Given the description of an element on the screen output the (x, y) to click on. 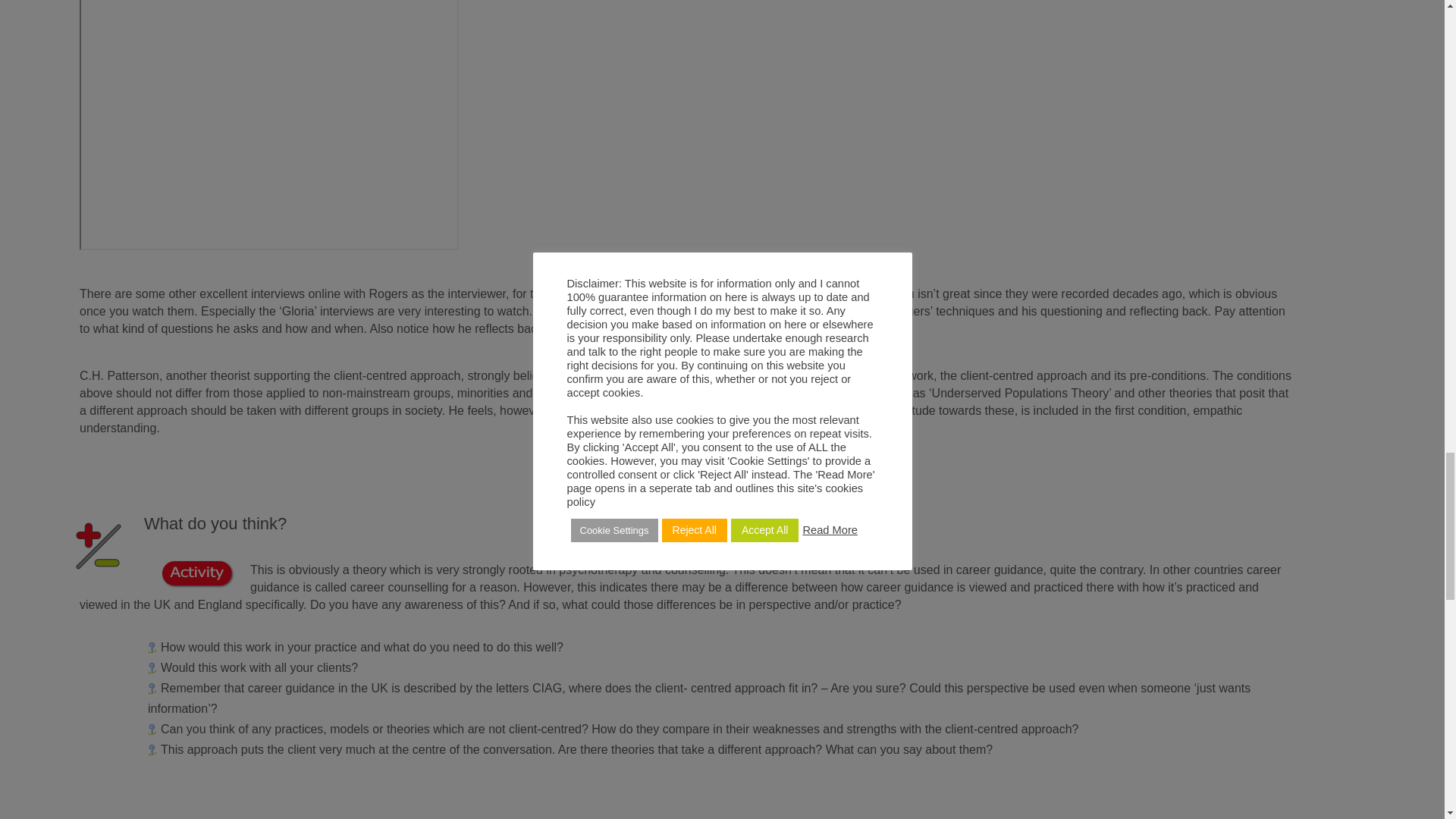
Carl Rogers interviews: Richie (269, 125)
